Given the description of an element on the screen output the (x, y) to click on. 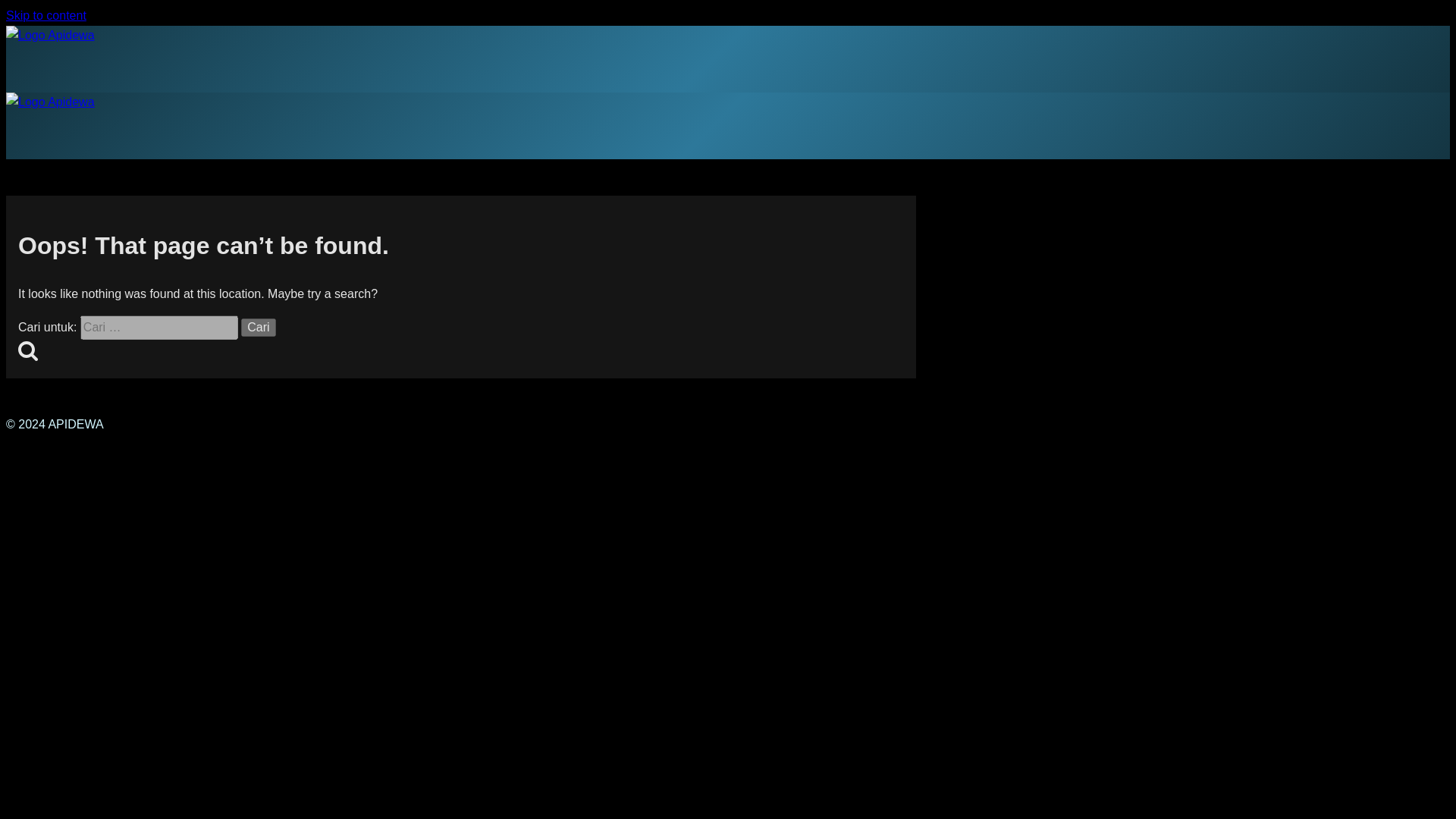
Skip to content (45, 15)
Skip to content (45, 15)
Cari (258, 327)
Search (27, 350)
Cari (258, 327)
Cari (258, 327)
